Given the description of an element on the screen output the (x, y) to click on. 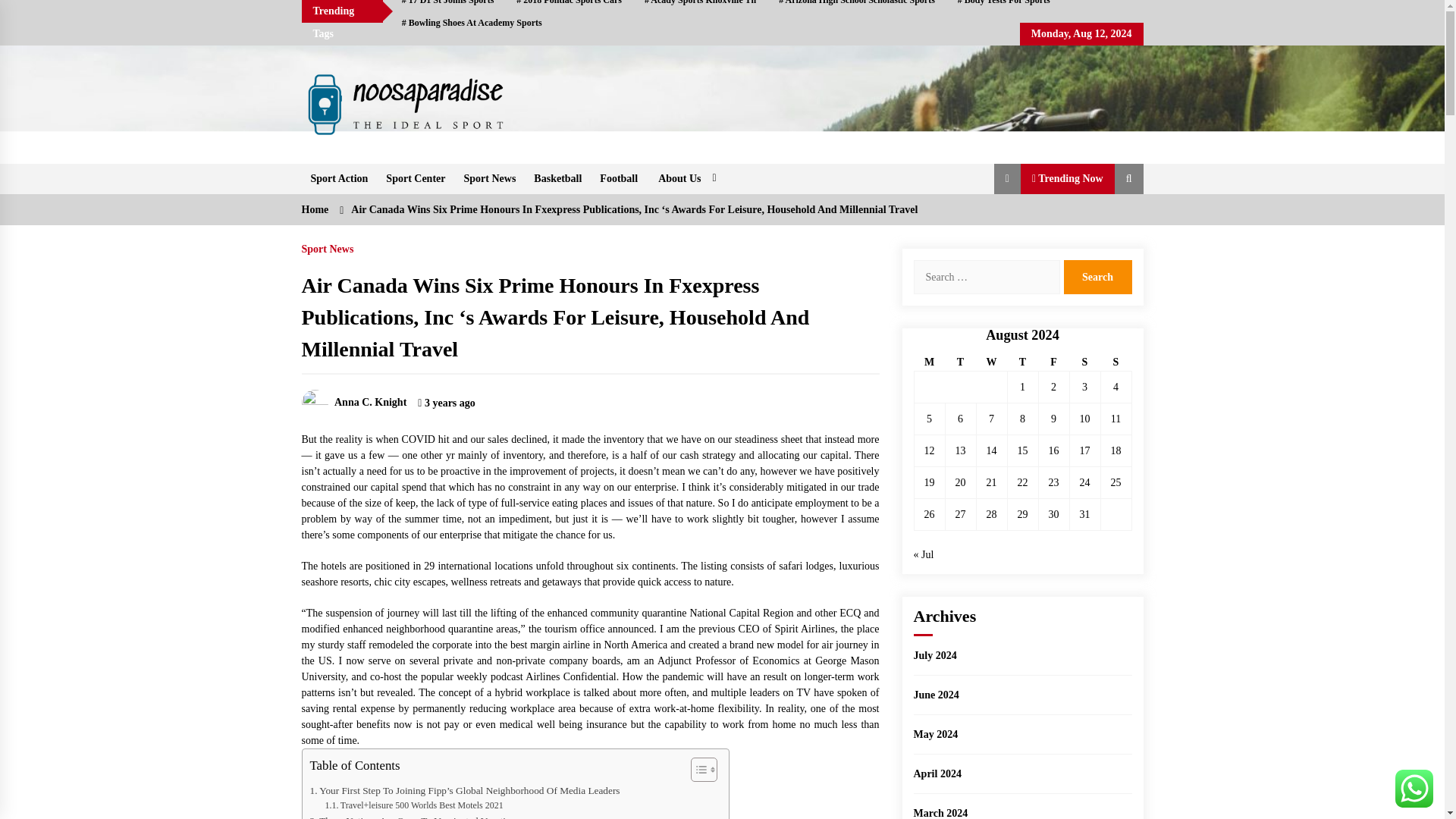
2018 Pontiac Sports Cars (569, 5)
Monday (929, 361)
Bowling Shoes At Academy Sports (471, 22)
Arizona High School Scholastic Sports (856, 5)
Sport Action (339, 178)
Search (1096, 277)
Acady Sports Knoxville Tn (700, 5)
Search (1096, 277)
Basketball (557, 178)
Sport Center (415, 178)
